Given the description of an element on the screen output the (x, y) to click on. 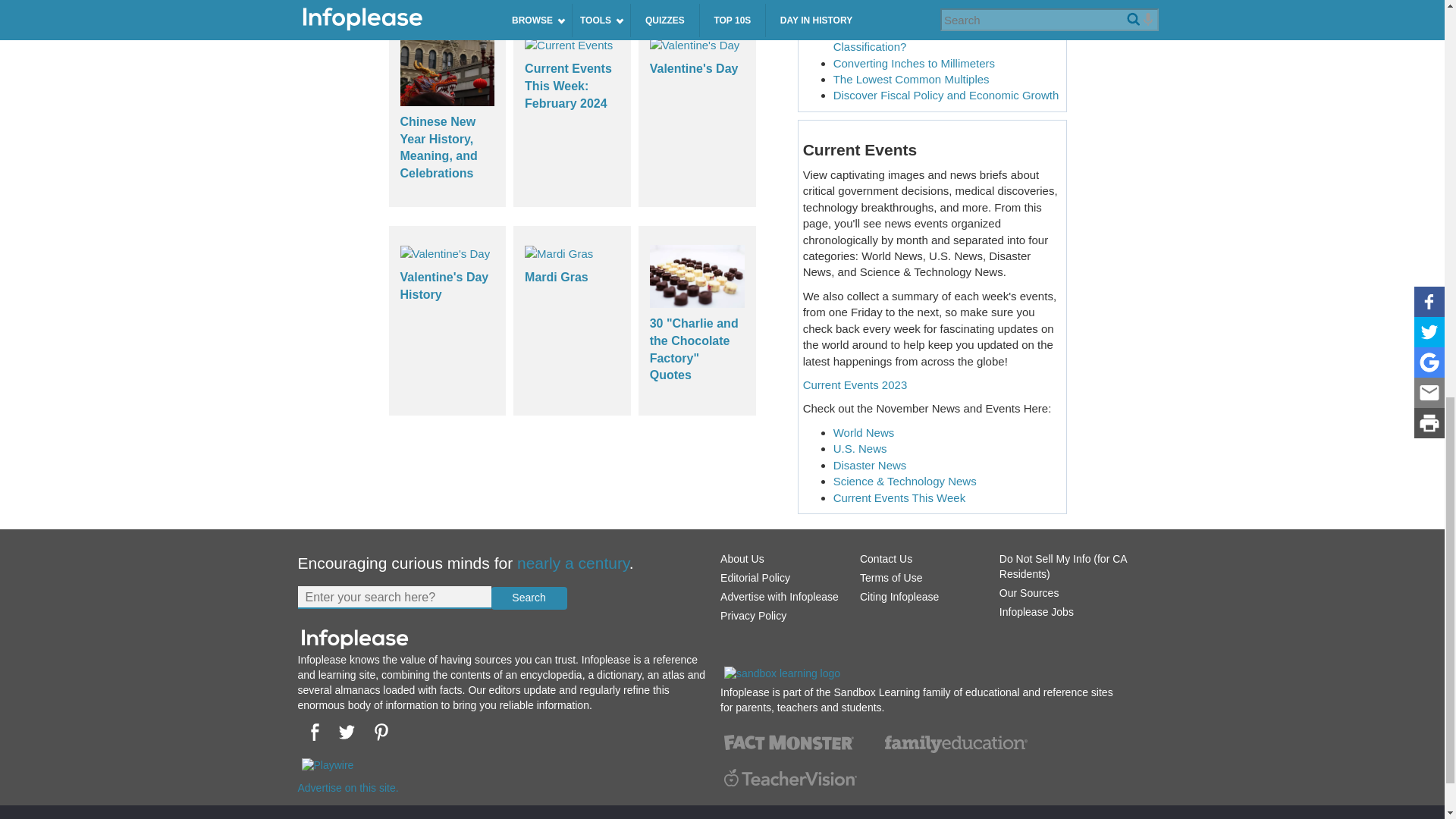
Search (529, 598)
